Given the description of an element on the screen output the (x, y) to click on. 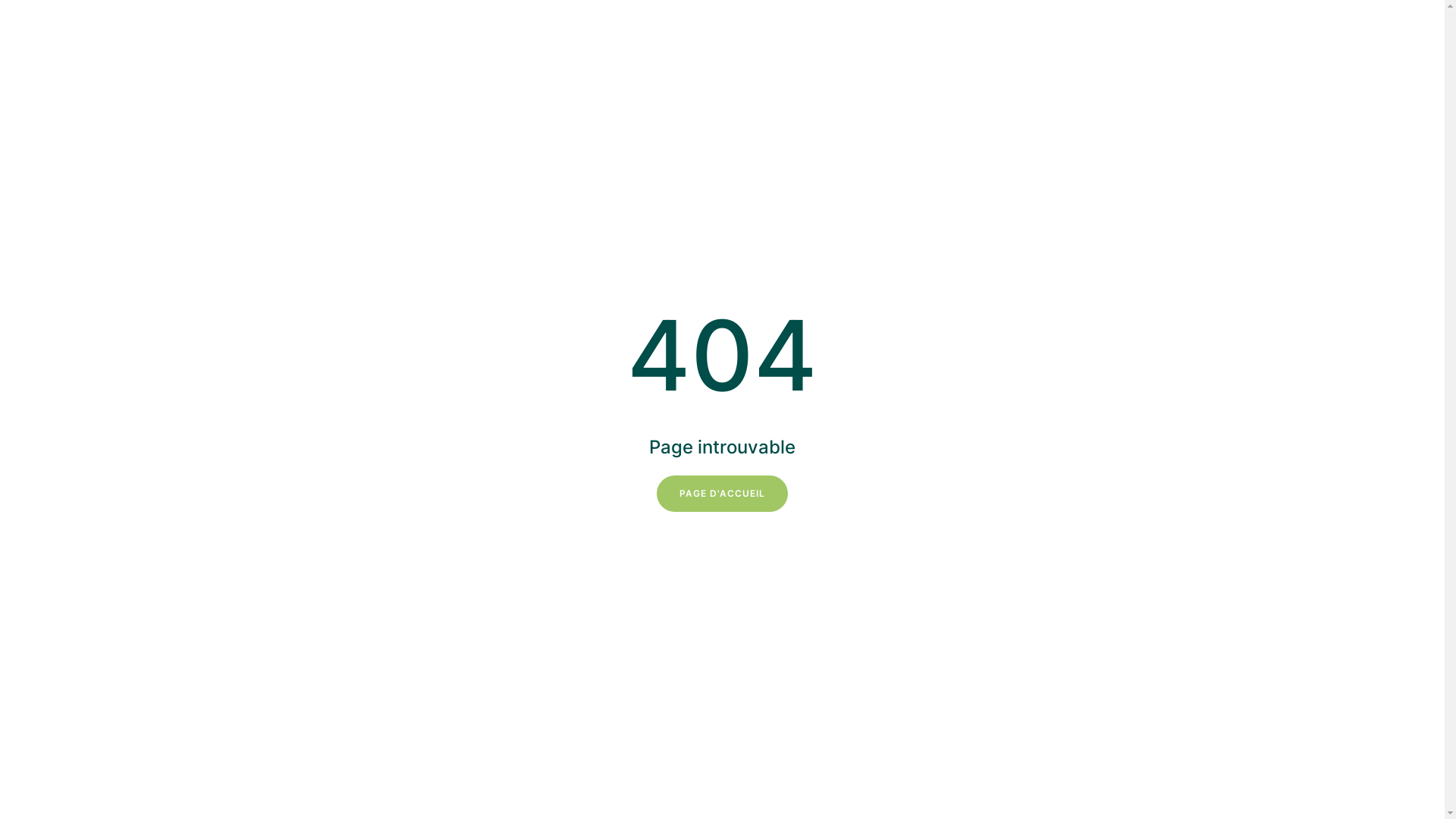
PAGE D'ACCUEIL Element type: text (721, 493)
